Given the description of an element on the screen output the (x, y) to click on. 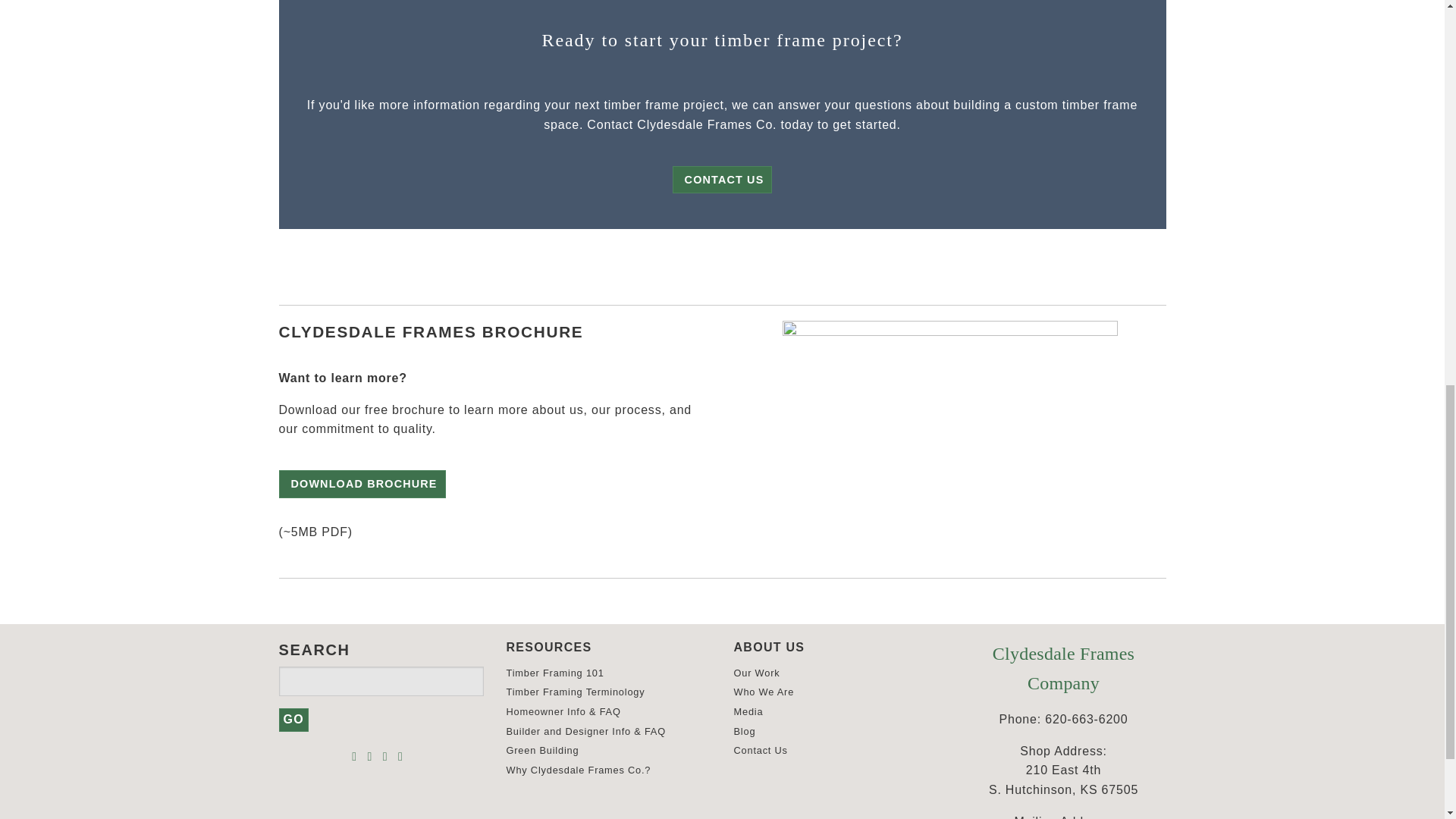
Why Clydesdale Frames Co.? (578, 769)
Our Work (756, 672)
Timber Framing 101 (555, 672)
Timber Framing Terminology (575, 691)
Green Building (542, 749)
Go (293, 719)
Go (293, 719)
CONTACT US (722, 179)
Who We Are (763, 691)
Go (293, 719)
